Given the description of an element on the screen output the (x, y) to click on. 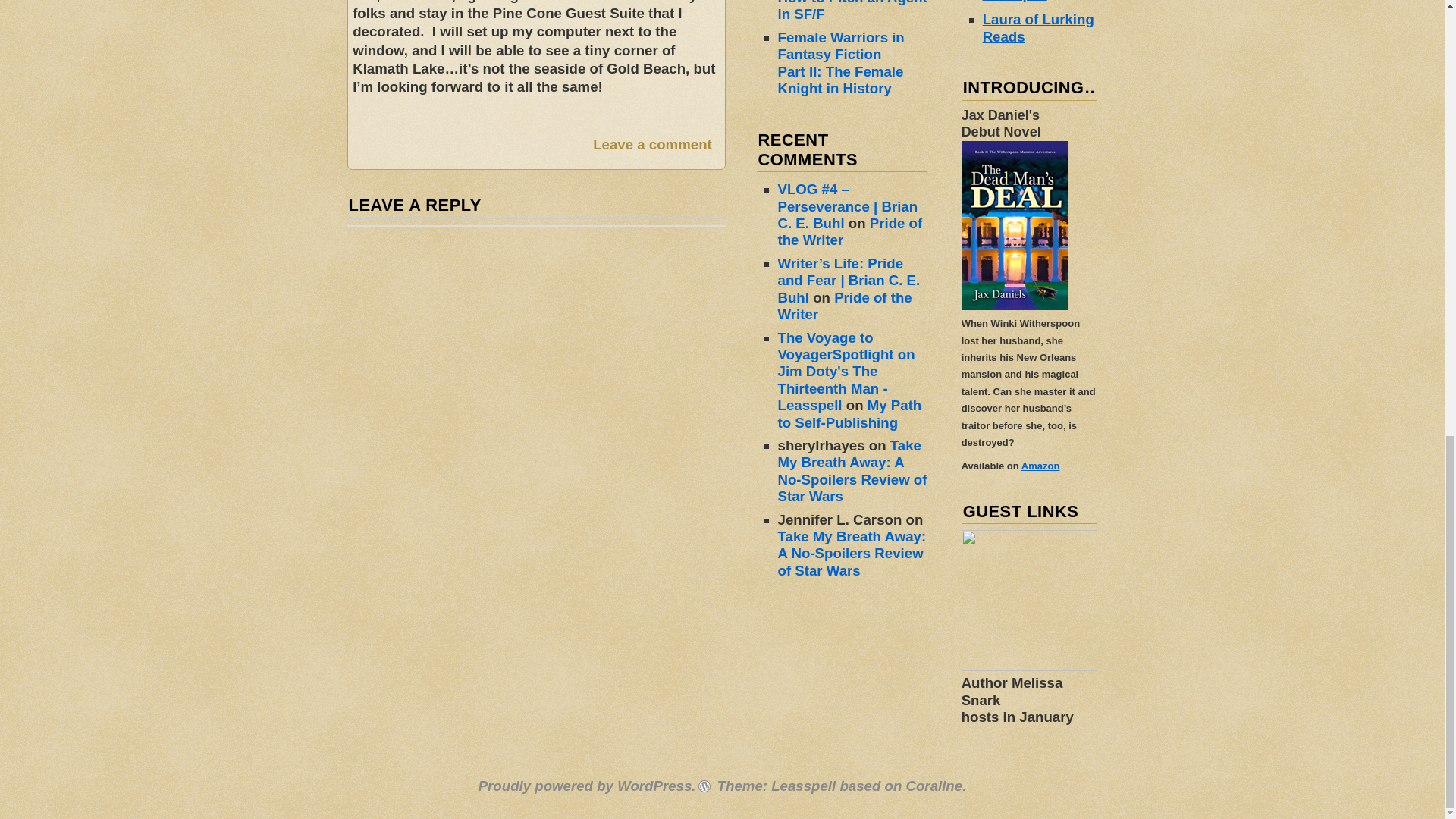
Take My Breath Away: A No-Spoilers Review of Star Wars (852, 470)
Laura of Lurking Reads (1038, 27)
A Semantic Personal Publishing Platform (587, 785)
Leave a comment (652, 144)
Pride of the Writer (850, 231)
My Path to Self-Publishing (849, 413)
Comment Form (536, 388)
Take My Breath Away: A No-Spoilers Review of Star Wars (851, 553)
Jennifer at Leasspell (1018, 1)
